Given the description of an element on the screen output the (x, y) to click on. 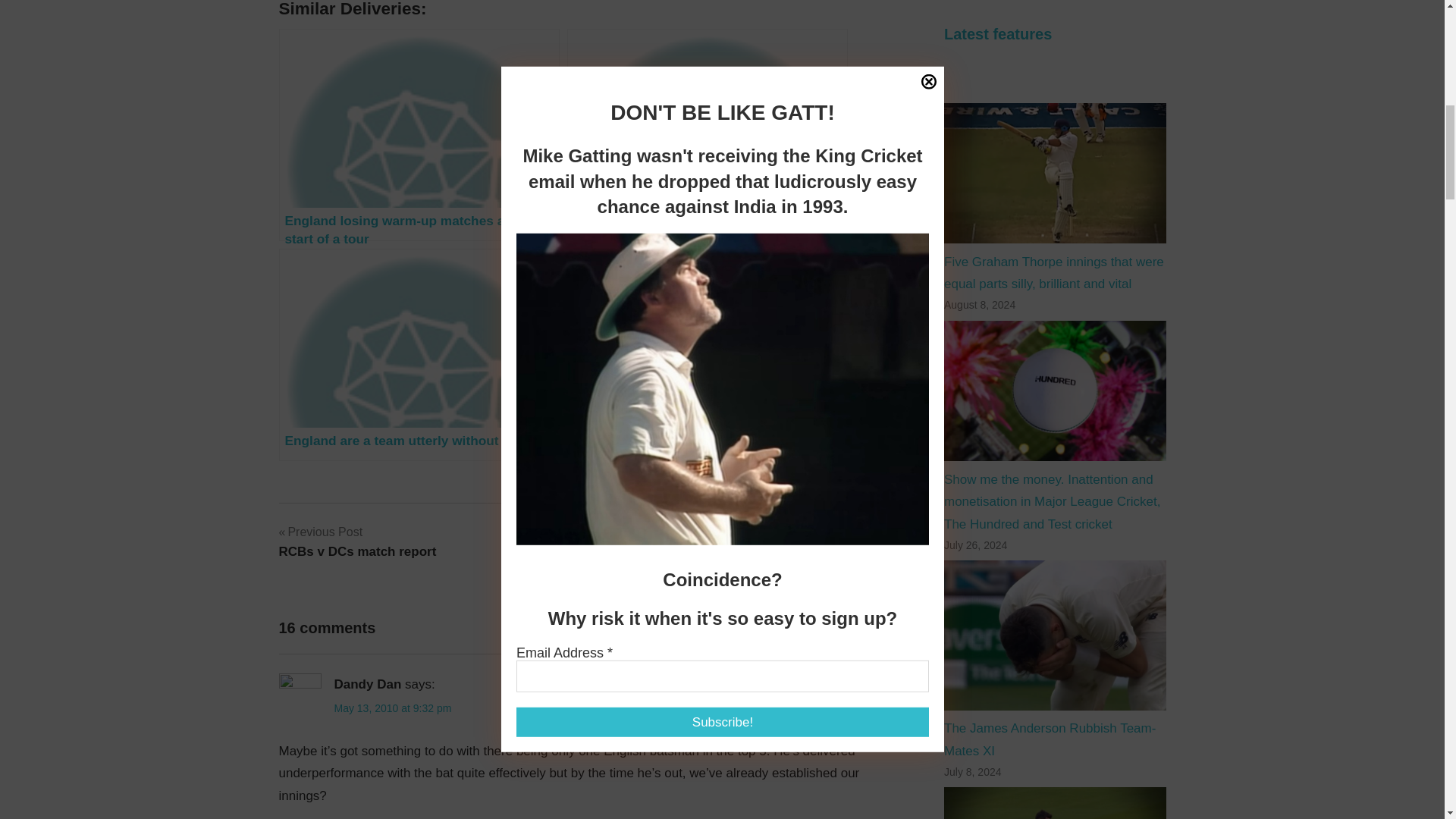
May 13, 2010 at 9:32 pm (392, 707)
England are a team utterly without breadth (419, 354)
The food eaten by the England cricket team (357, 541)
England losing warm-up matches at the start of a tour (707, 354)
The food eaten by the England cricket team (419, 134)
England are a team utterly without breadth (707, 354)
England losing warm-up matches at the start of a tour (419, 354)
